Given the description of an element on the screen output the (x, y) to click on. 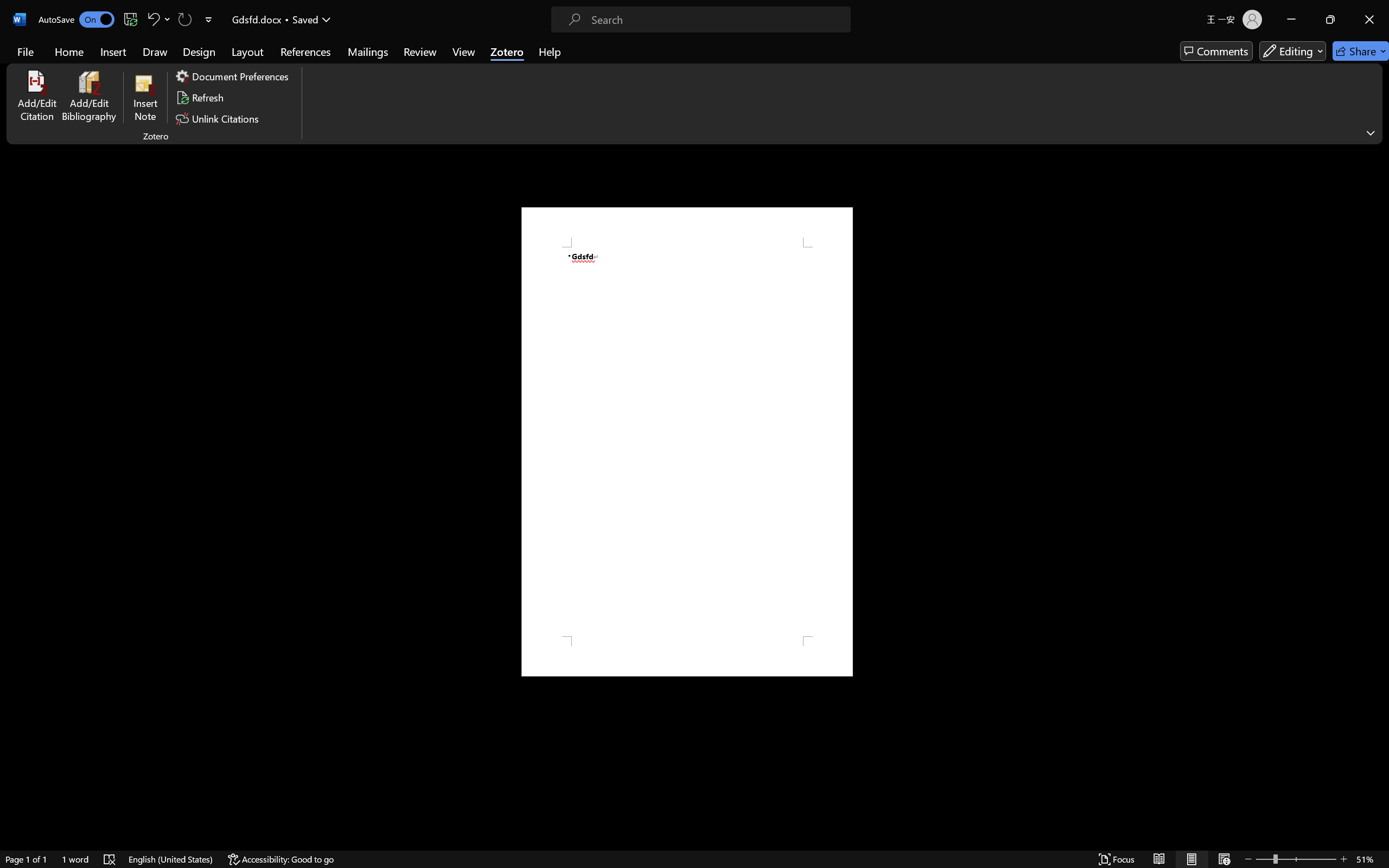
Page 1 content (686, 441)
